Given the description of an element on the screen output the (x, y) to click on. 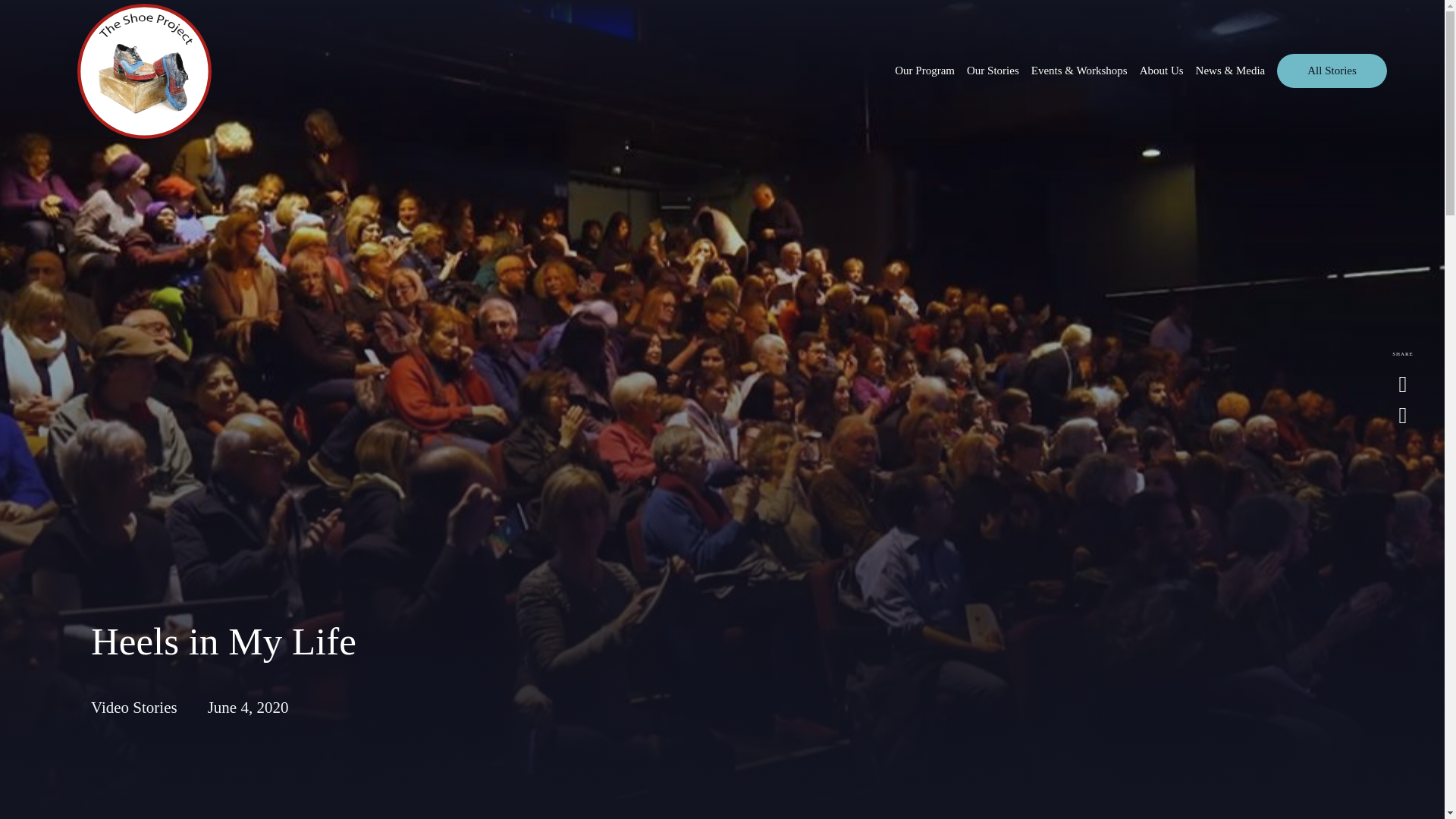
About Us (1161, 71)
Our Program (925, 71)
All Stories (1331, 70)
Our Stories (992, 71)
